Given the description of an element on the screen output the (x, y) to click on. 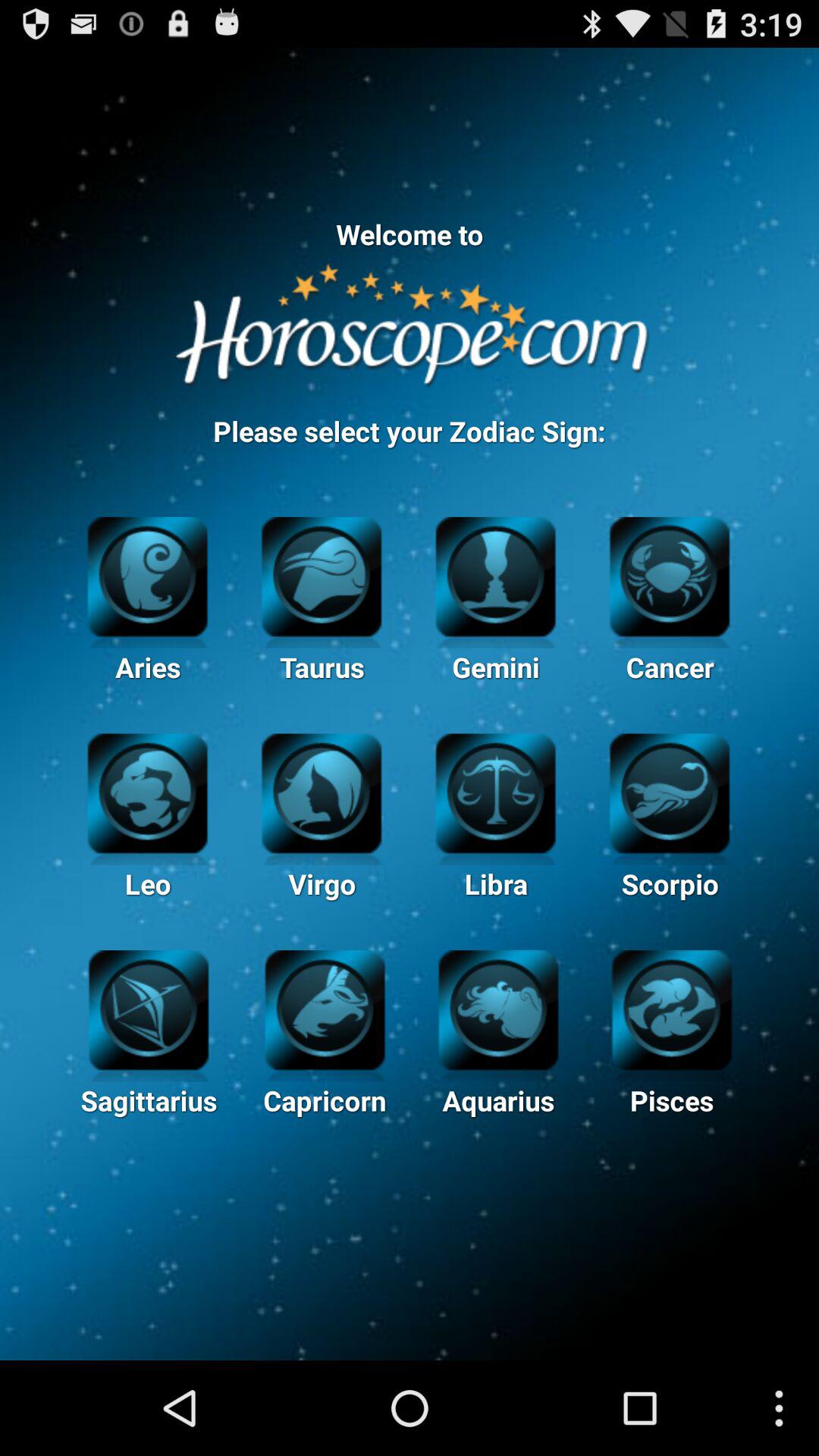
view zodiac details (148, 1007)
